Given the description of an element on the screen output the (x, y) to click on. 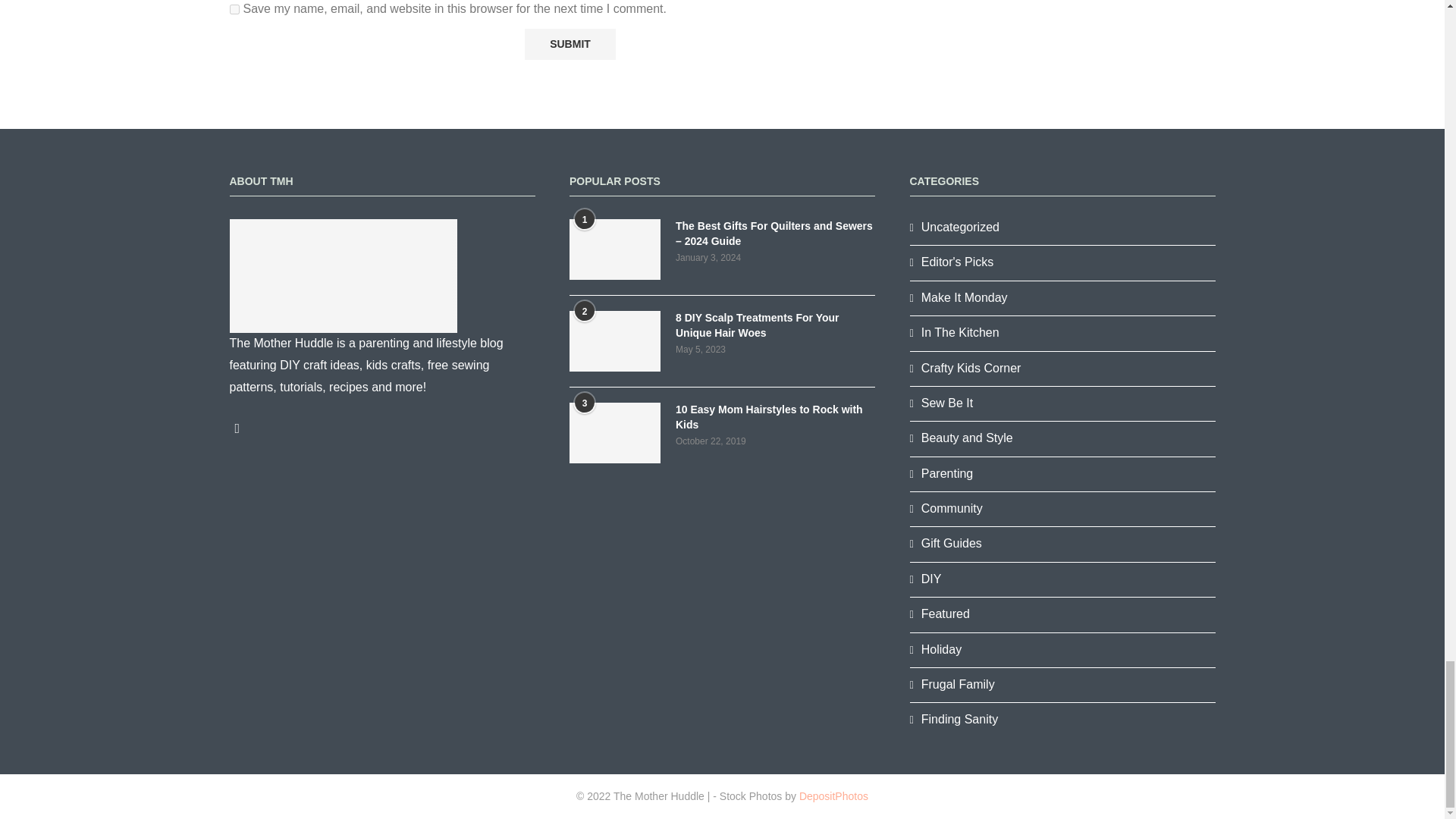
yes (233, 9)
Submit (569, 43)
